Given the description of an element on the screen output the (x, y) to click on. 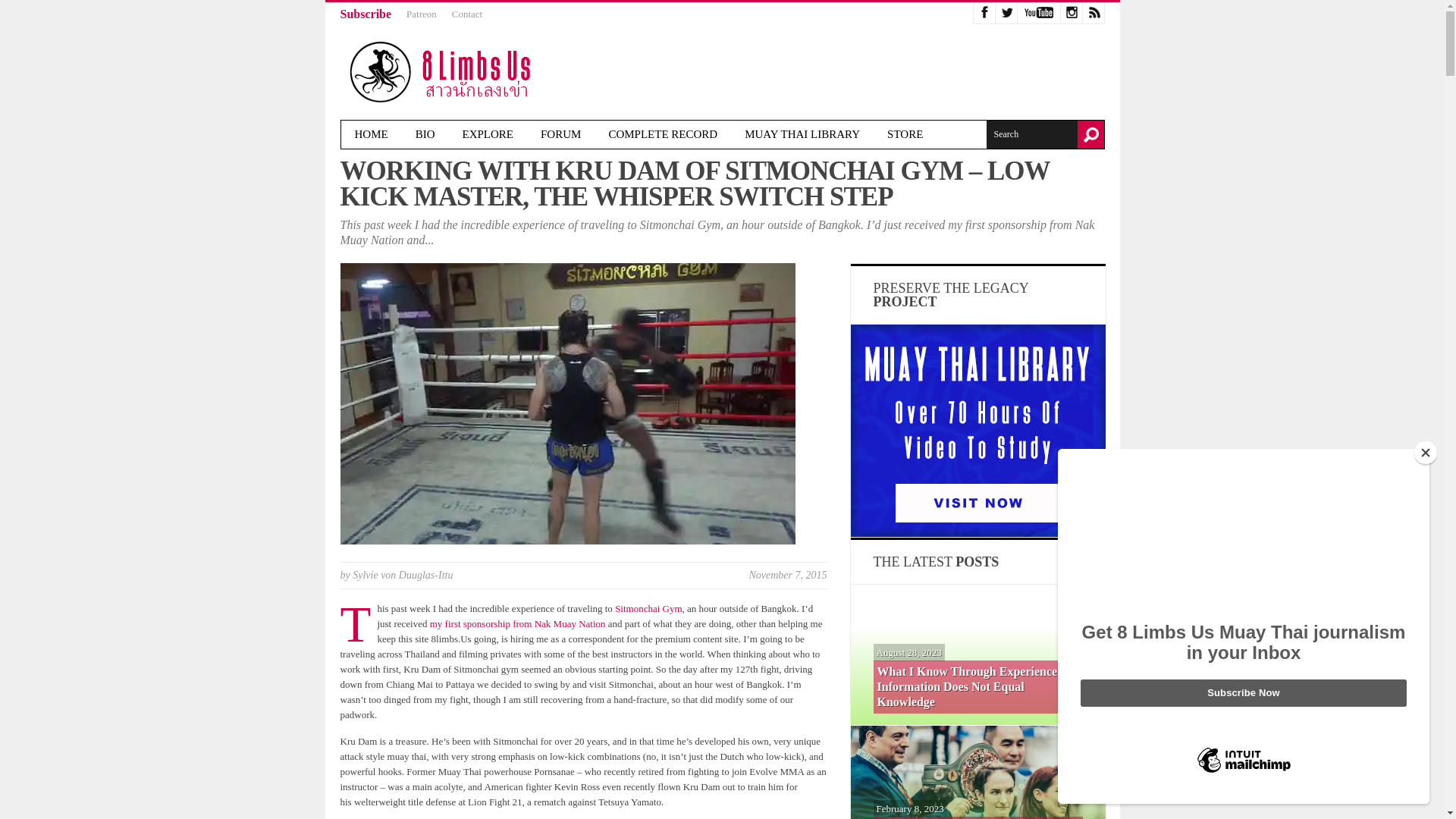
MUAY THAI LIBRARY (801, 134)
Patreon (421, 13)
COMPLETE RECORD (662, 134)
Explore (487, 134)
Sylvie von Duuglas-Ittu (402, 574)
Search (1031, 134)
Contact (466, 13)
EXPLORE (487, 134)
FORUM (560, 134)
my first sponsorship from Nak Muay Nation (517, 623)
STORE (904, 134)
HOME (370, 134)
Sitmonchai Gym (647, 608)
BIO (424, 134)
Subscribe (365, 13)
